Given the description of an element on the screen output the (x, y) to click on. 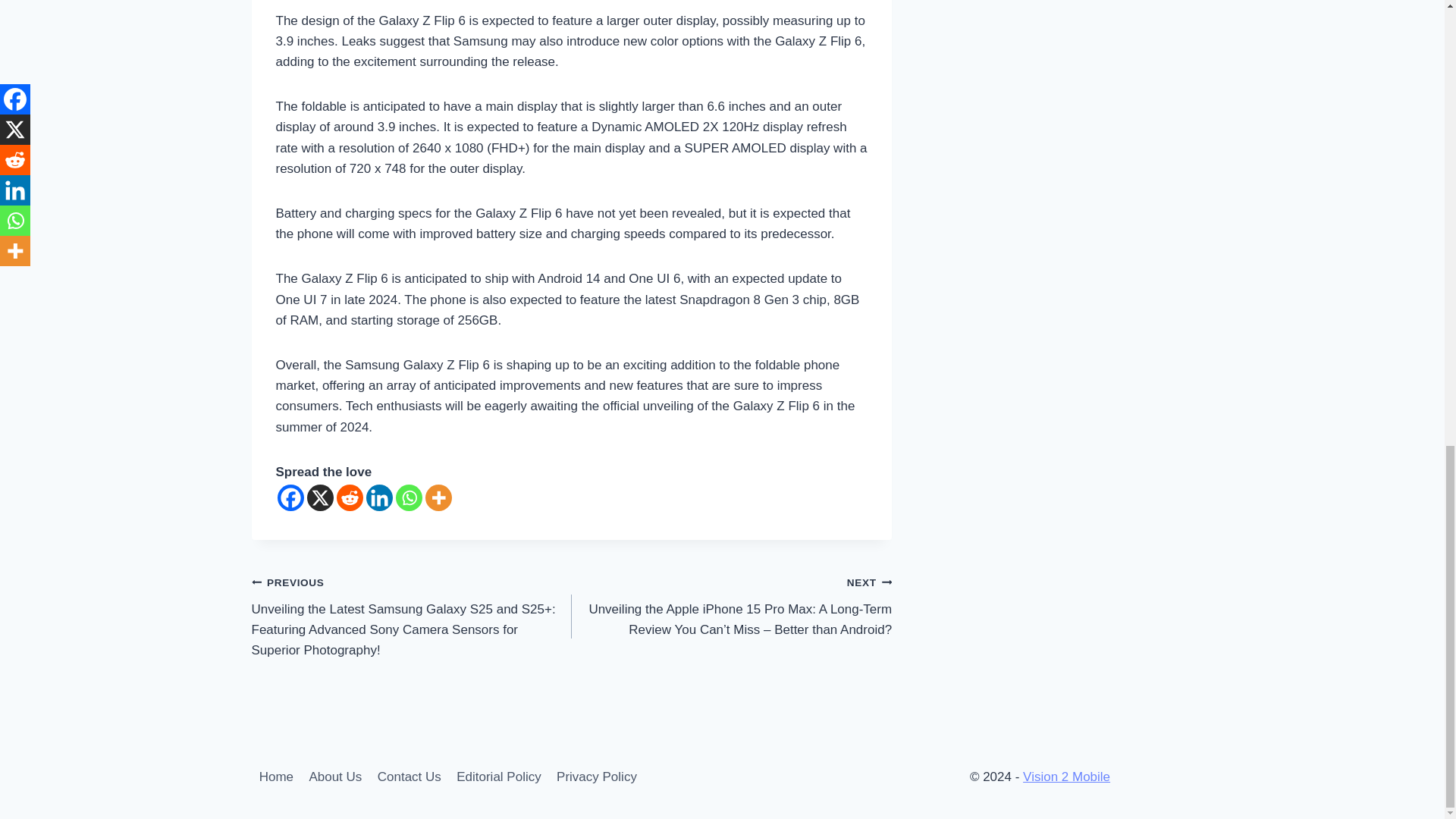
More (438, 497)
Facebook (291, 497)
About Us (335, 776)
Contact Us (408, 776)
Vision 2 Mobile (1066, 776)
Home (276, 776)
Privacy Policy (596, 776)
Whatsapp (409, 497)
Editorial Policy (498, 776)
X (319, 497)
Reddit (349, 497)
Linkedin (378, 497)
